Given the description of an element on the screen output the (x, y) to click on. 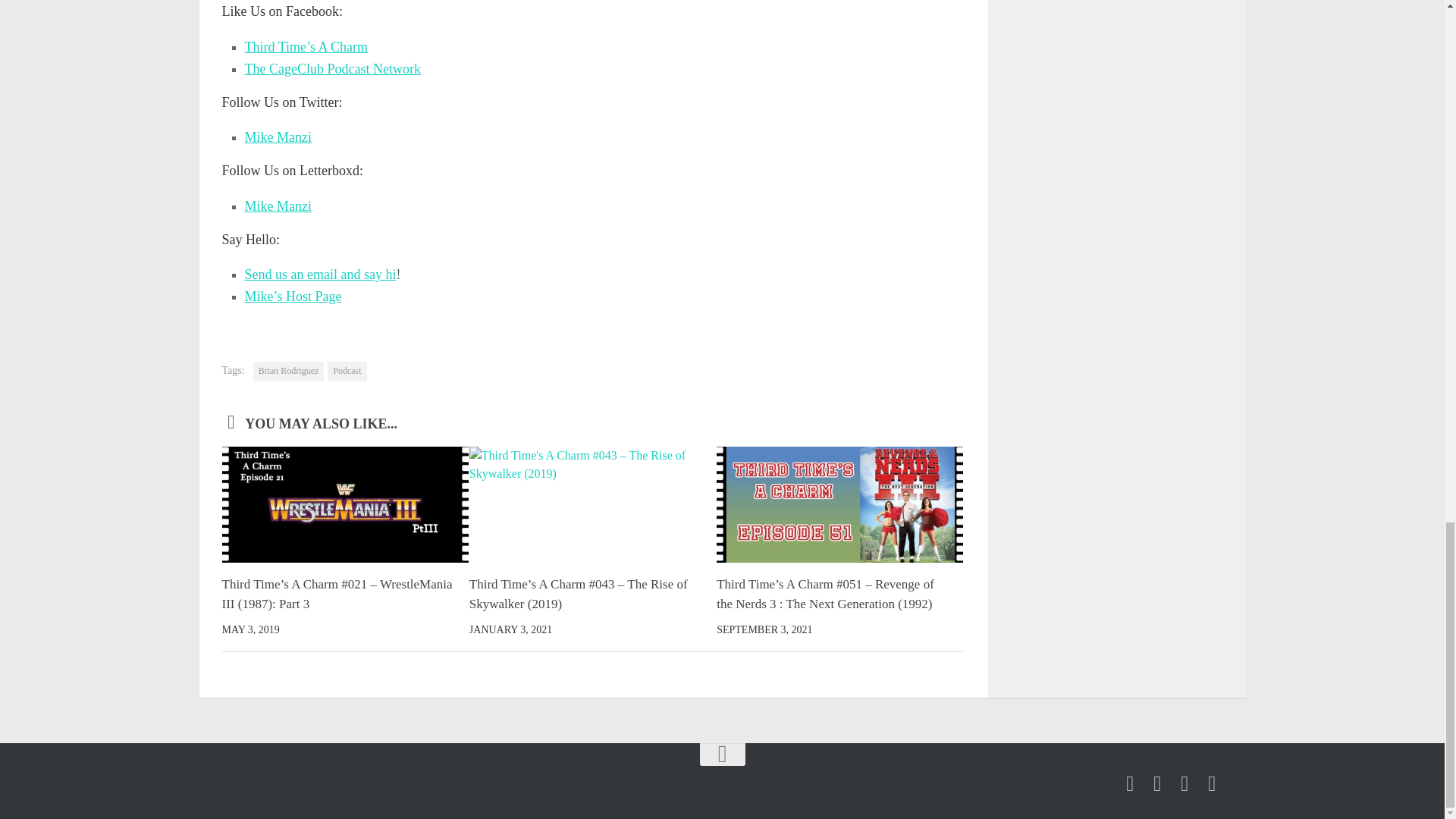
CageClub Podcast Network on Facebook (1129, 783)
Email the CageClub Podcast Network (1212, 783)
CageClub Podcast Network on Twitter (1157, 783)
Follow us on Instagram (1184, 783)
